Given the description of an element on the screen output the (x, y) to click on. 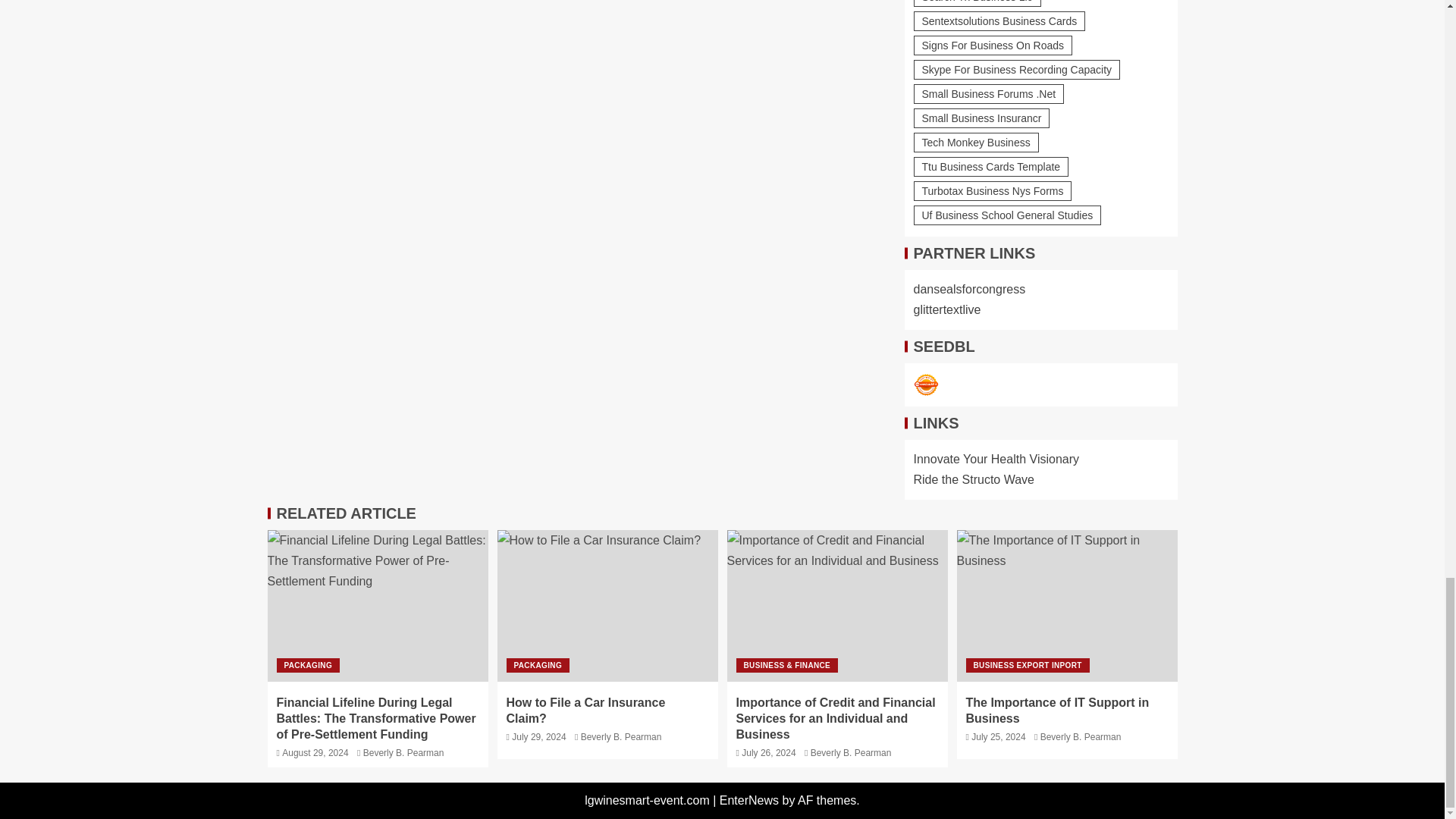
How to File a Car Insurance Claim? (607, 605)
Seedbacklink (925, 385)
